Given the description of an element on the screen output the (x, y) to click on. 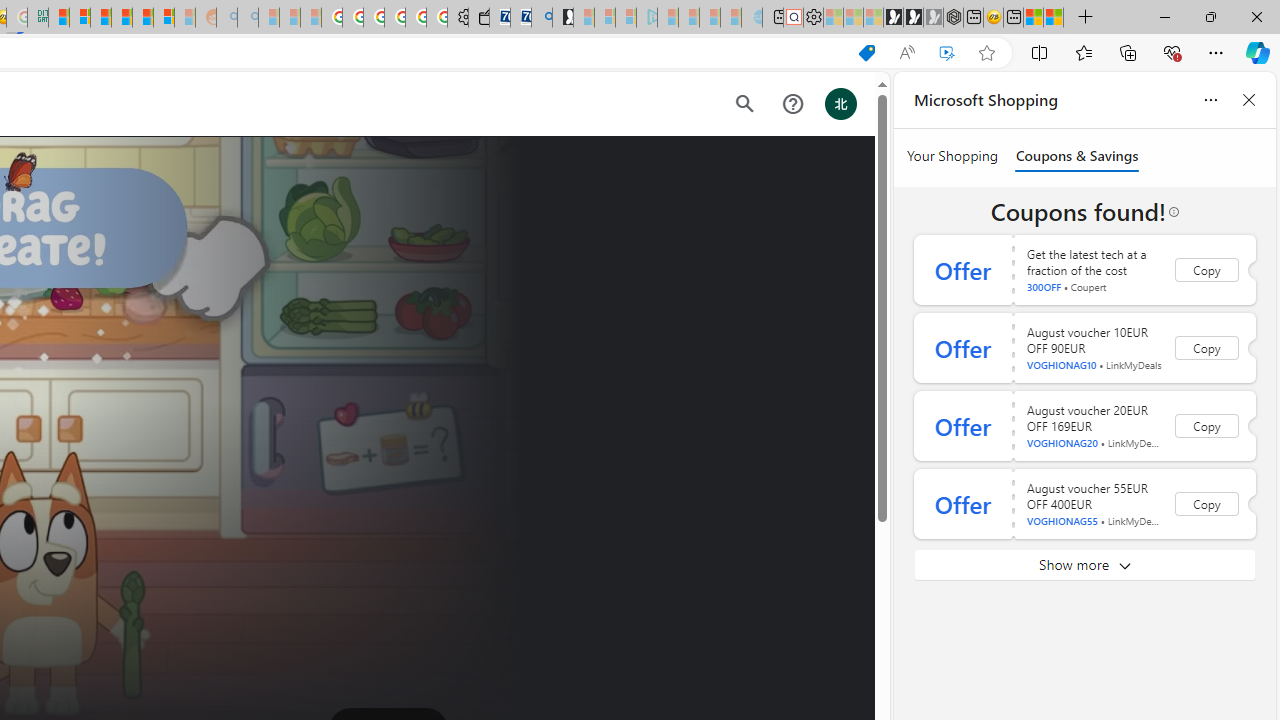
Bing Real Estate - Home sales and rental listings (541, 17)
Microsoft Start Gaming (563, 17)
Microsoft account | Privacy (79, 17)
Cheap Car Rentals - Save70.com (520, 17)
